Given the description of an element on the screen output the (x, y) to click on. 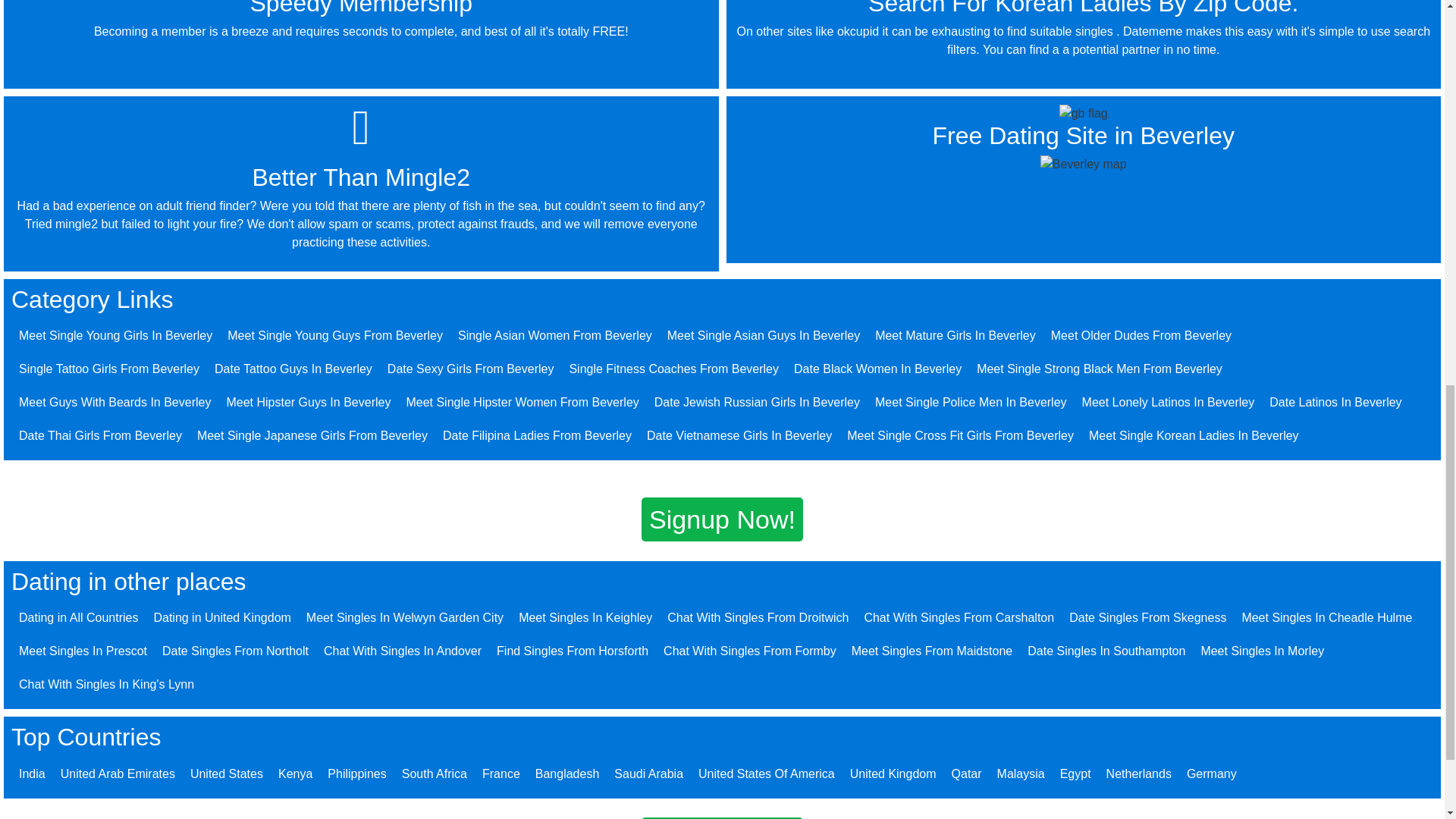
Meet Single Young Guys From Beverley (334, 335)
Meet Single Asian Guys In Beverley (763, 335)
Meet Single Young Girls In Beverley (115, 335)
Single Asian Women From Beverley (555, 335)
